Given the description of an element on the screen output the (x, y) to click on. 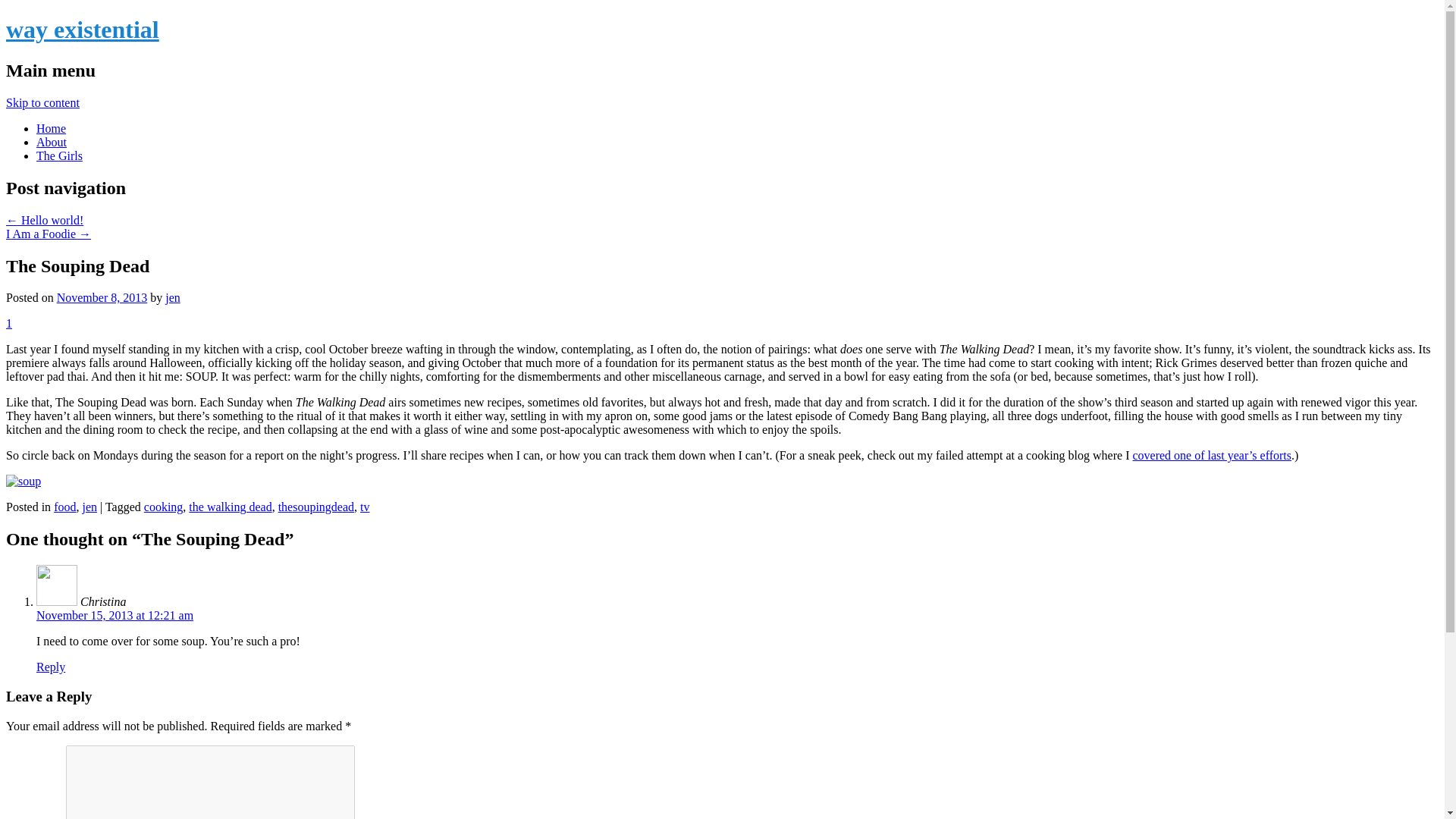
way existential (81, 29)
6:58 pm (102, 297)
About (51, 141)
View all posts by jen (172, 297)
November 8, 2013 (102, 297)
The Girls (59, 155)
food (64, 506)
Skip to content (42, 102)
Reply (50, 666)
jen (172, 297)
November 15, 2013 at 12:21 am (114, 615)
Skip to content (42, 102)
cooking (163, 506)
the walking dead (229, 506)
way existential (81, 29)
